Given the description of an element on the screen output the (x, y) to click on. 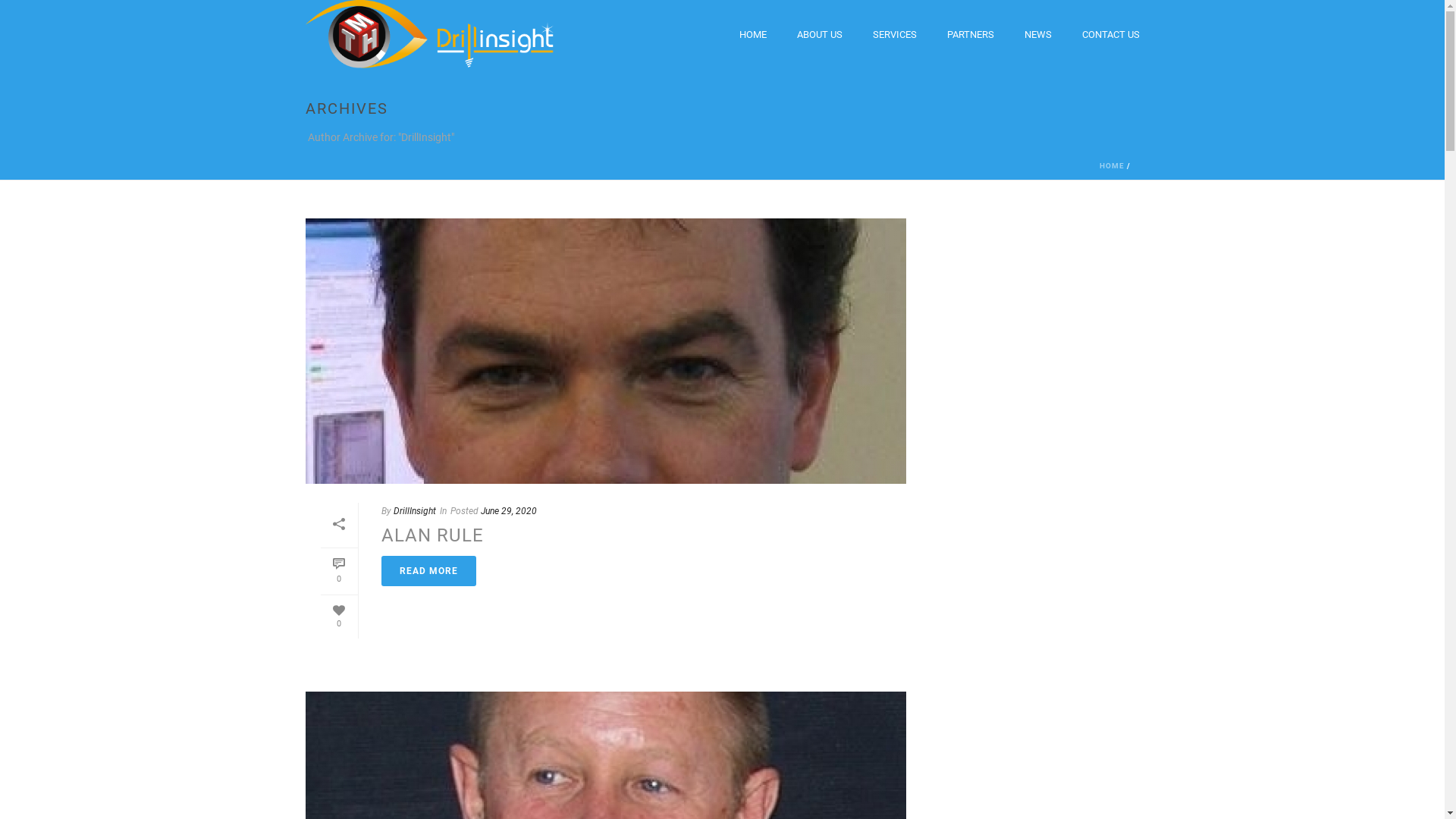
ABOUT US Element type: text (818, 34)
READ MORE Element type: text (427, 570)
0 Element type: text (338, 616)
0 Element type: text (338, 571)
NEWS Element type: text (1037, 34)
ALAN RULE Element type: text (431, 535)
Alan Rule Element type: hover (604, 350)
PARTNERS Element type: text (969, 34)
CONTACT US Element type: text (1110, 34)
Model driven Decision Support Element type: hover (428, 34)
HOME Element type: text (752, 34)
DrillInsight Element type: text (413, 510)
HOME Element type: text (1111, 165)
June 29, 2020 Element type: text (508, 510)
  Element type: text (604, 350)
SERVICES Element type: text (893, 34)
